Given the description of an element on the screen output the (x, y) to click on. 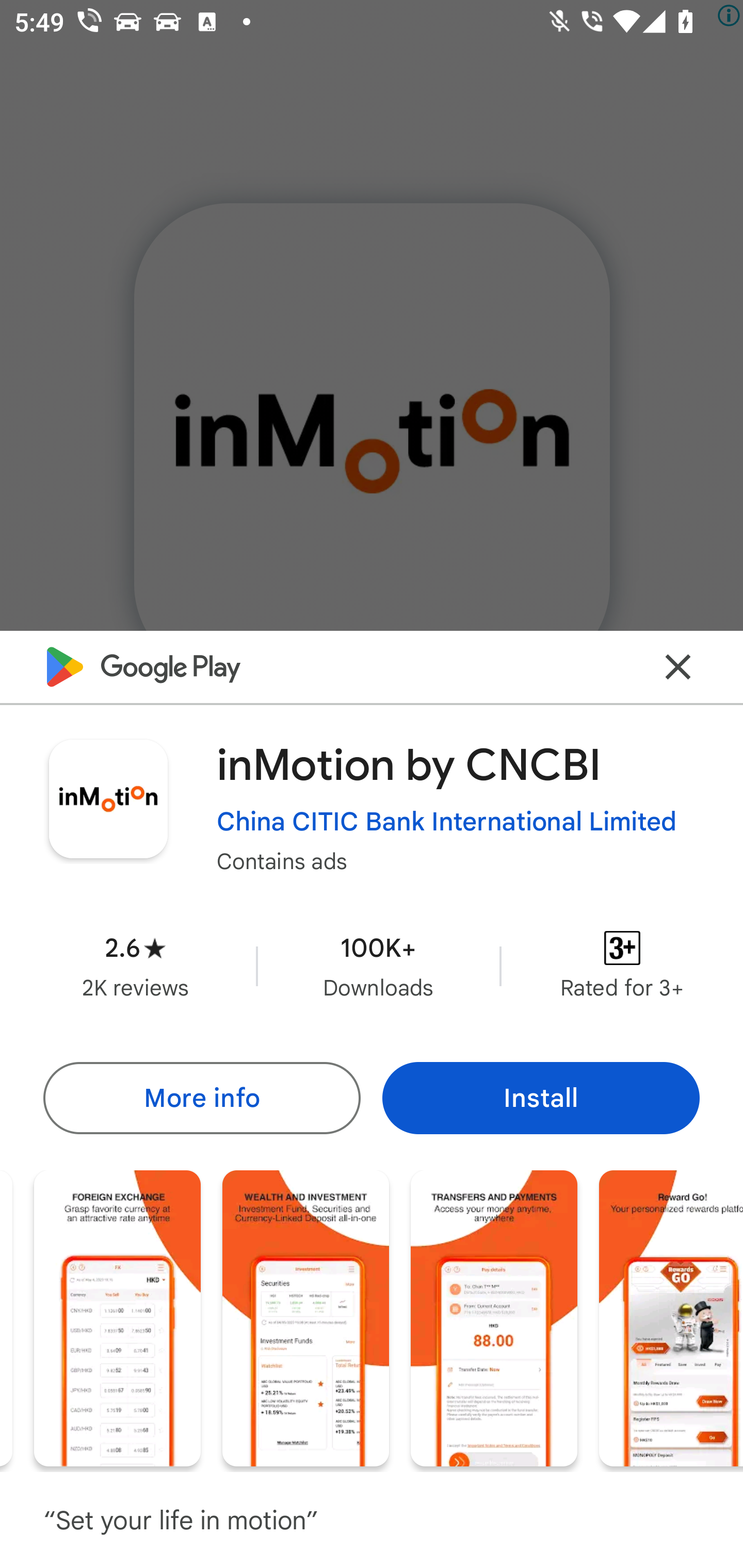
Close (677, 666)
Image of app or game icon for inMotion by CNCBI (108, 798)
China CITIC Bank International Limited (446, 822)
More info (201, 1097)
Install (540, 1097)
Screenshot "4" of "7" (117, 1317)
Screenshot "5" of "7" (305, 1317)
Screenshot "6" of "7" (493, 1317)
Screenshot "7" of "7" (670, 1317)
